Given the description of an element on the screen output the (x, y) to click on. 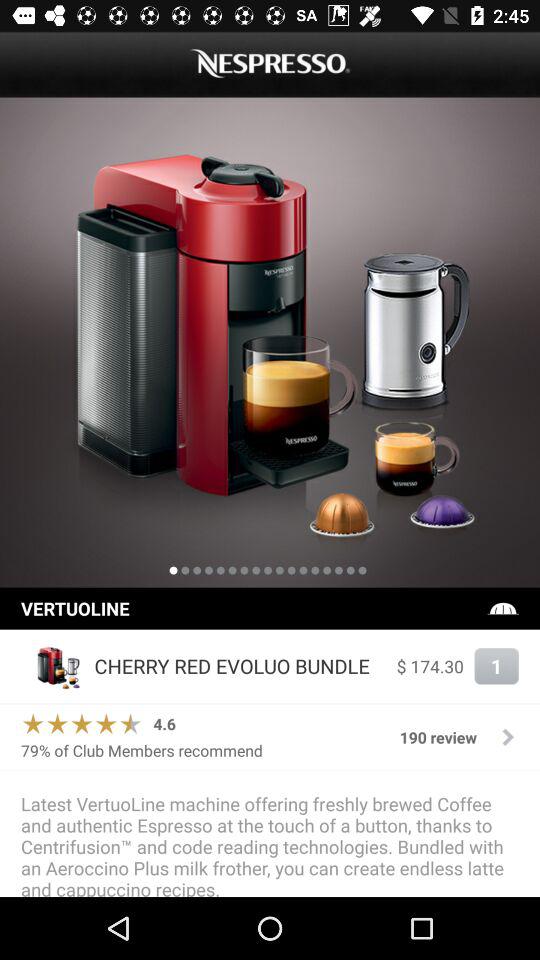
turn on the $ 174.30 item (429, 666)
